Given the description of an element on the screen output the (x, y) to click on. 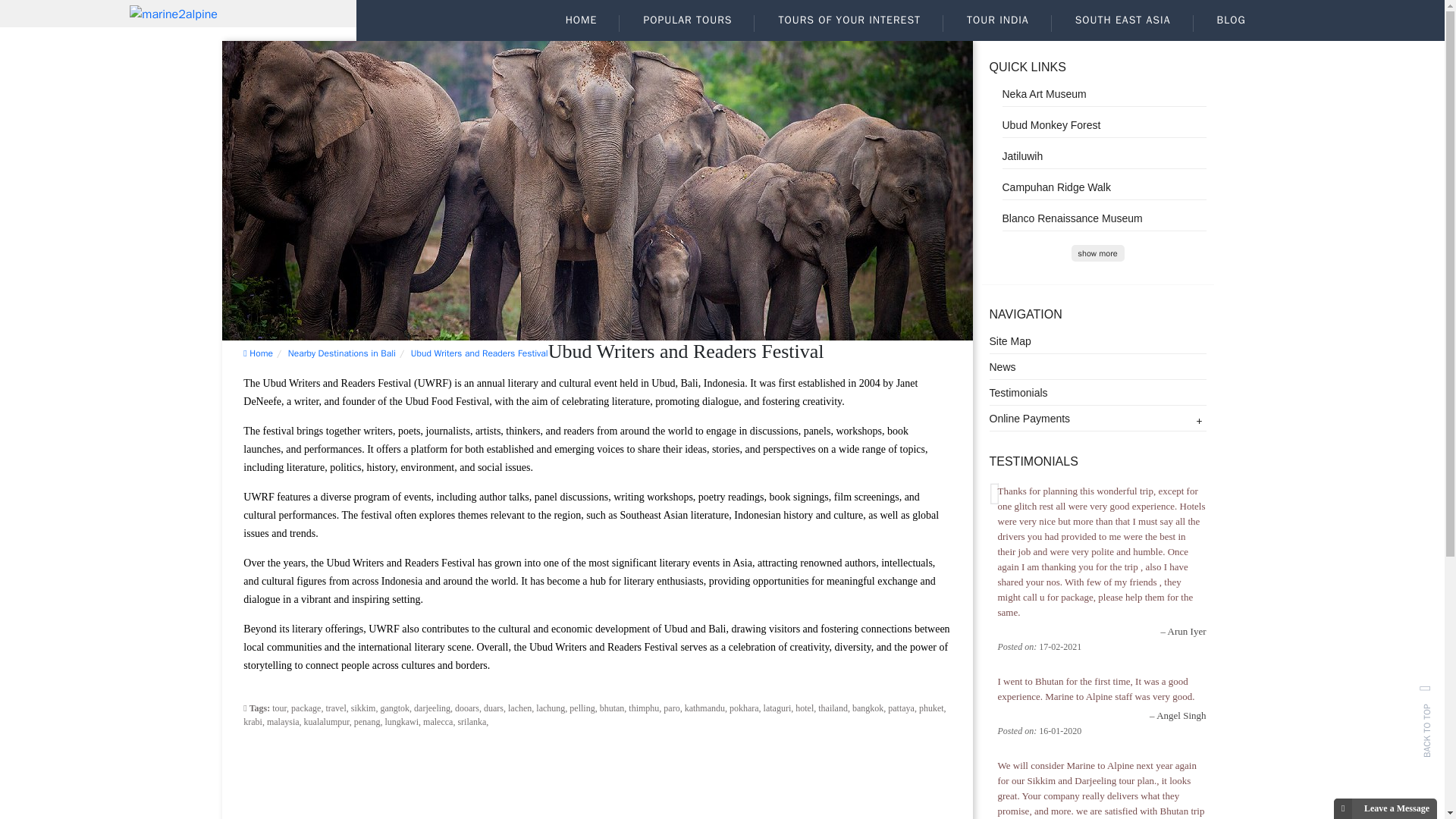
Blanco Renaissance Museum (1105, 218)
HOME (581, 20)
POPULAR TOURS (687, 20)
SOUTH EAST ASIA (1122, 20)
Neka Art Museum (1105, 94)
Nearby Destinations in Bali (342, 353)
Campuhan Ridge Walk (1105, 187)
TOURS OF YOUR INTEREST (849, 20)
Jatiluwih (1105, 156)
Ubud Writers and Readers Festival (479, 353)
